Given the description of an element on the screen output the (x, y) to click on. 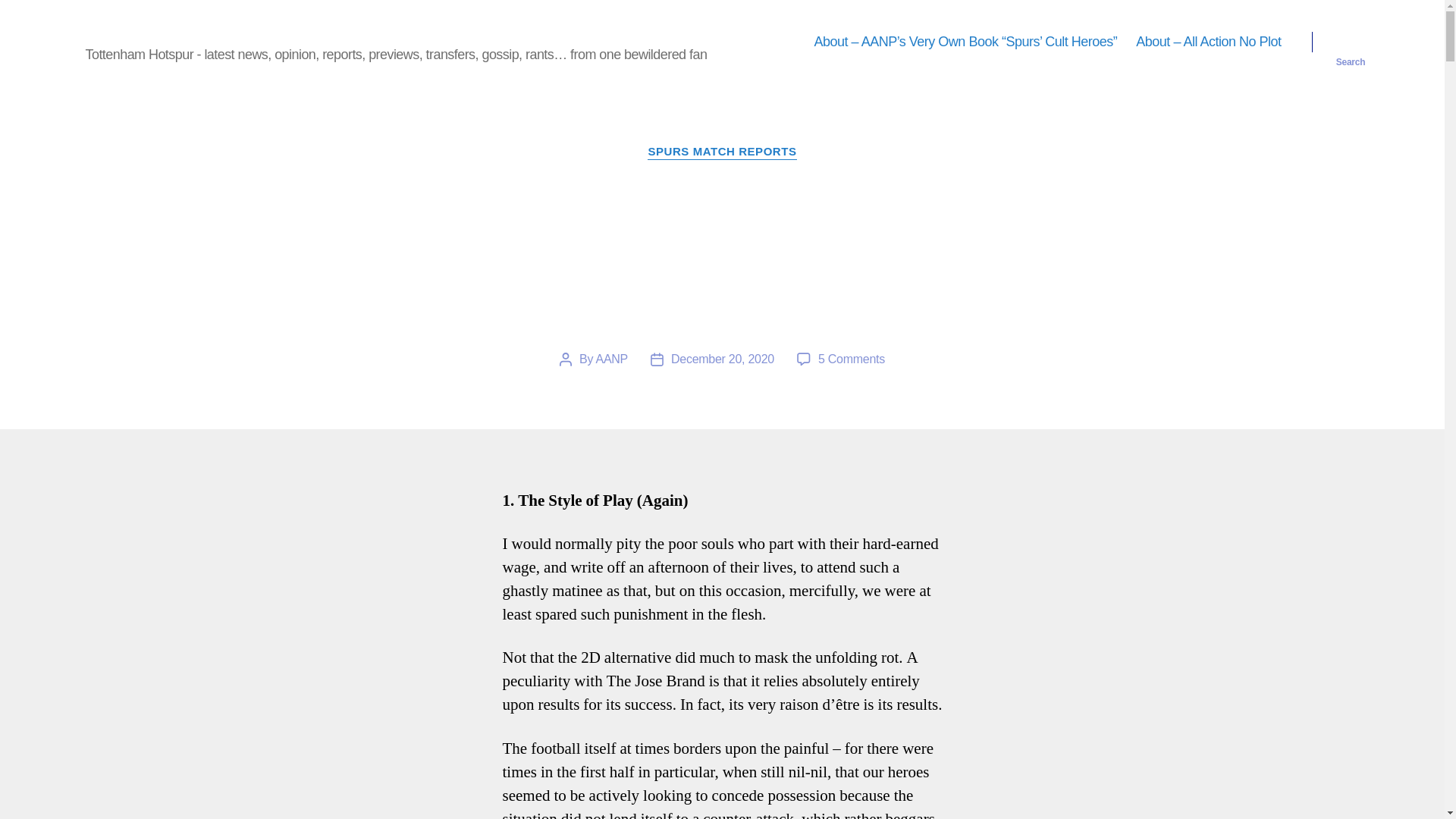
SPURS MATCH REPORTS (721, 151)
All Action, No Plot (156, 30)
December 20, 2020 (722, 358)
Search (1350, 41)
AANP (611, 358)
